Given the description of an element on the screen output the (x, y) to click on. 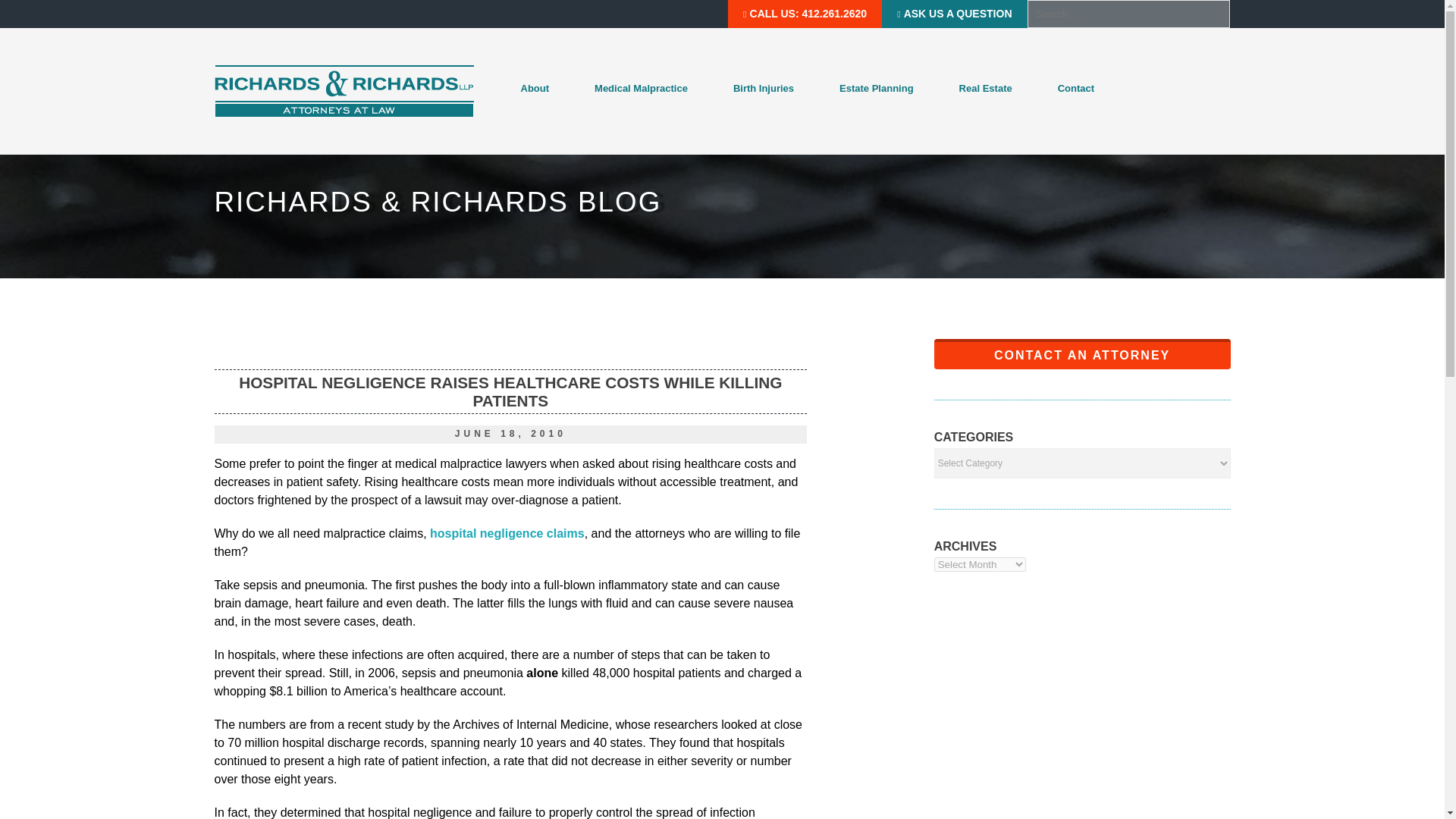
Search (30, 15)
Estate Planning (876, 88)
Medical Malpractice (640, 88)
CALL US: 412.261.2620 (805, 13)
About (534, 88)
ASK US A QUESTION (954, 13)
Birth Injuries (763, 88)
Search for: (1127, 13)
